Given the description of an element on the screen output the (x, y) to click on. 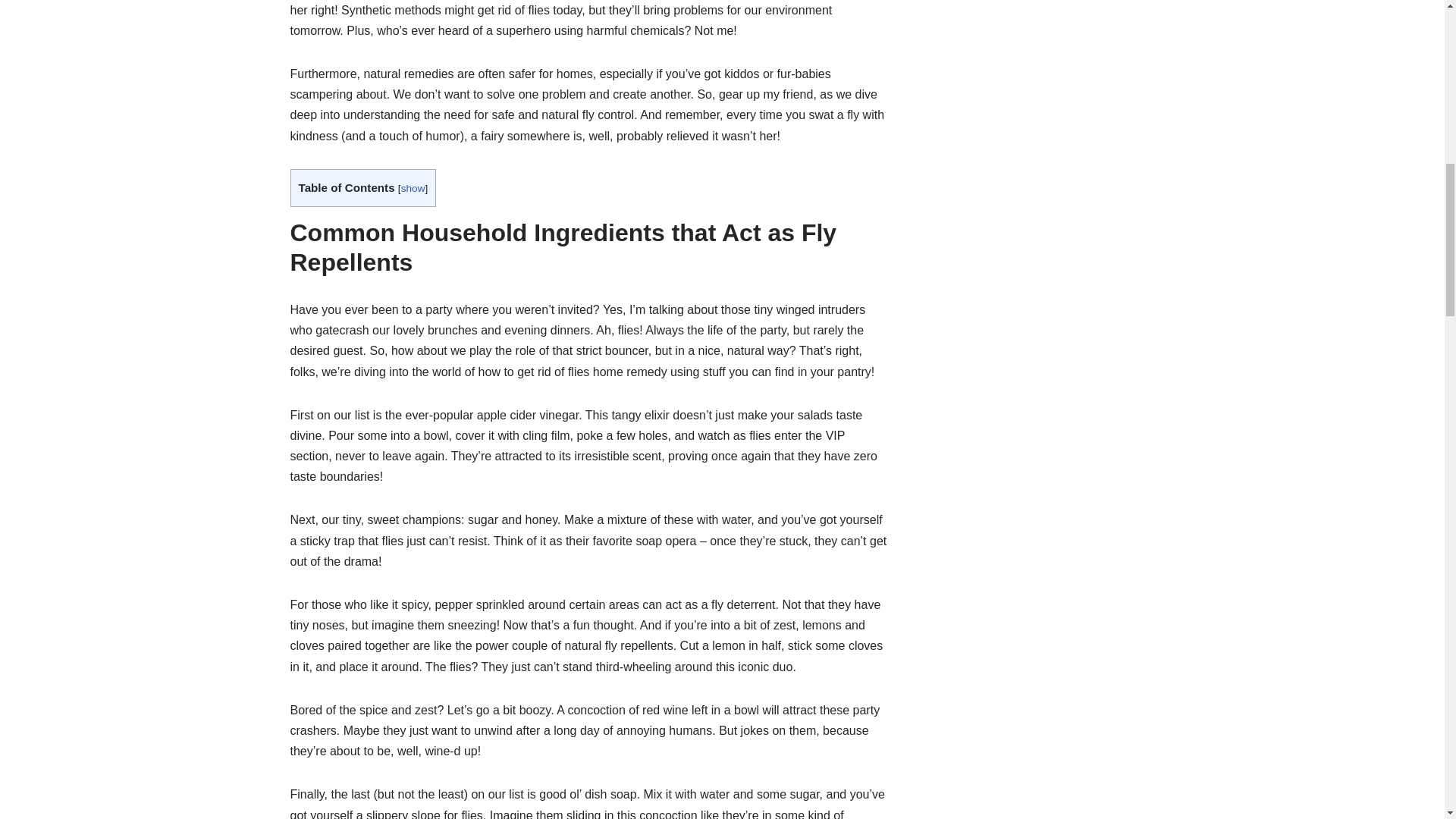
show (413, 188)
